Given the description of an element on the screen output the (x, y) to click on. 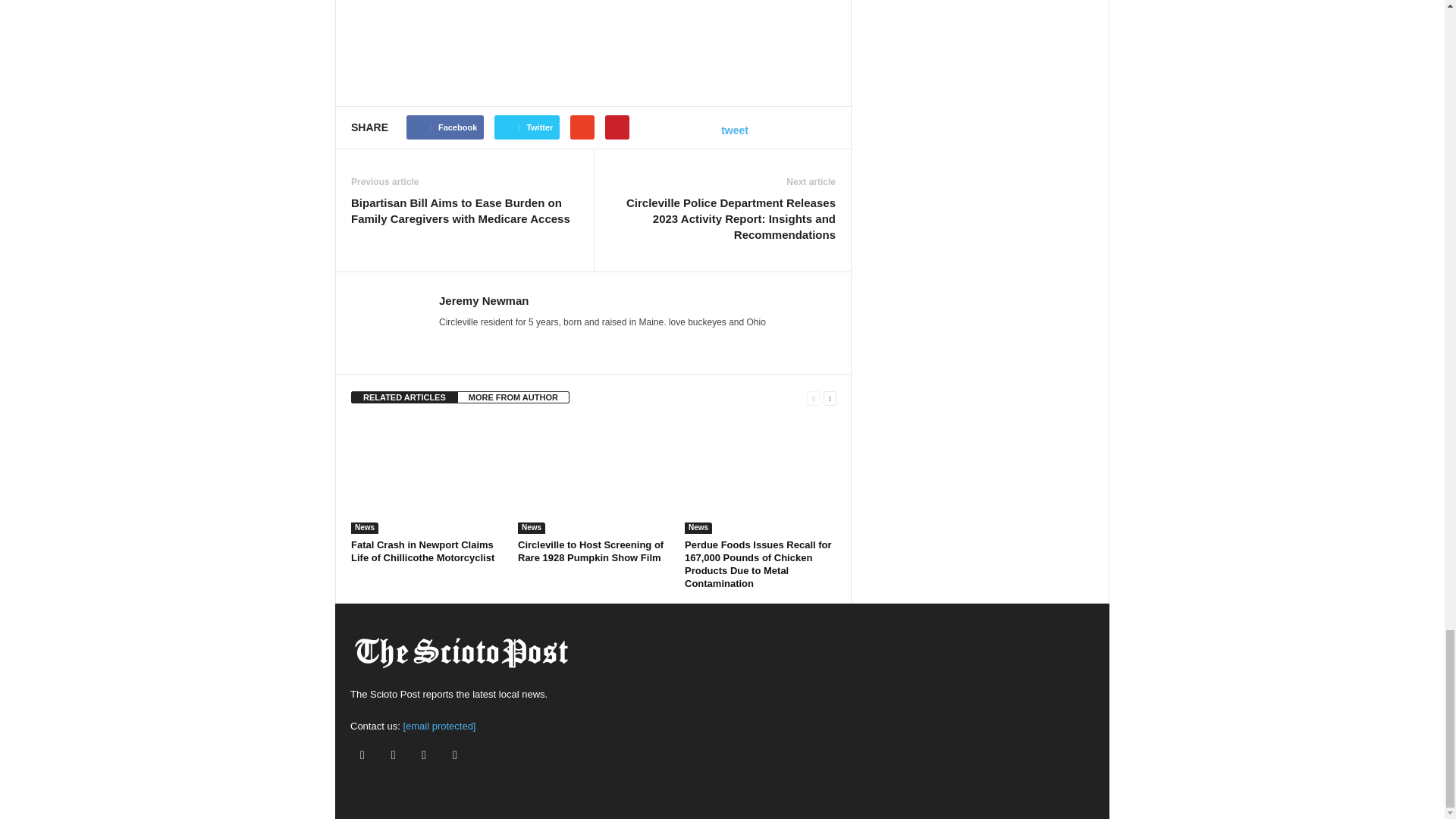
Circleville to Host Screening of Rare 1928 Pumpkin Show Film (593, 476)
